Given the description of an element on the screen output the (x, y) to click on. 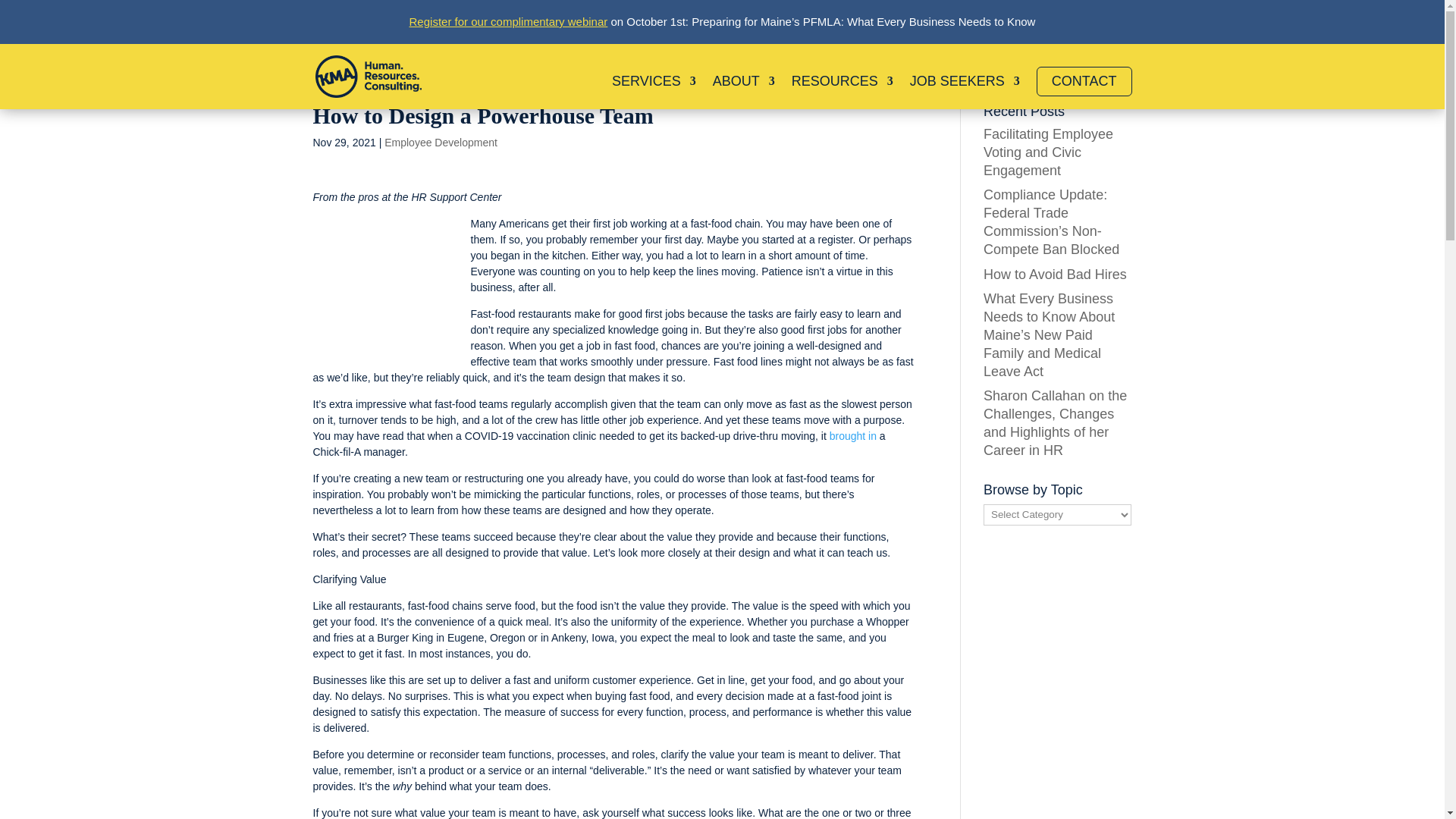
ABOUT (743, 92)
Register for our complimentary webinar (508, 21)
SERVICES (653, 92)
JOB SEEKERS (965, 92)
brought in (852, 435)
Facilitating Employee Voting and Civic Engagement (1048, 152)
How to Avoid Bad Hires (1055, 273)
Employee Development (440, 142)
RESOURCES (842, 92)
